Given the description of an element on the screen output the (x, y) to click on. 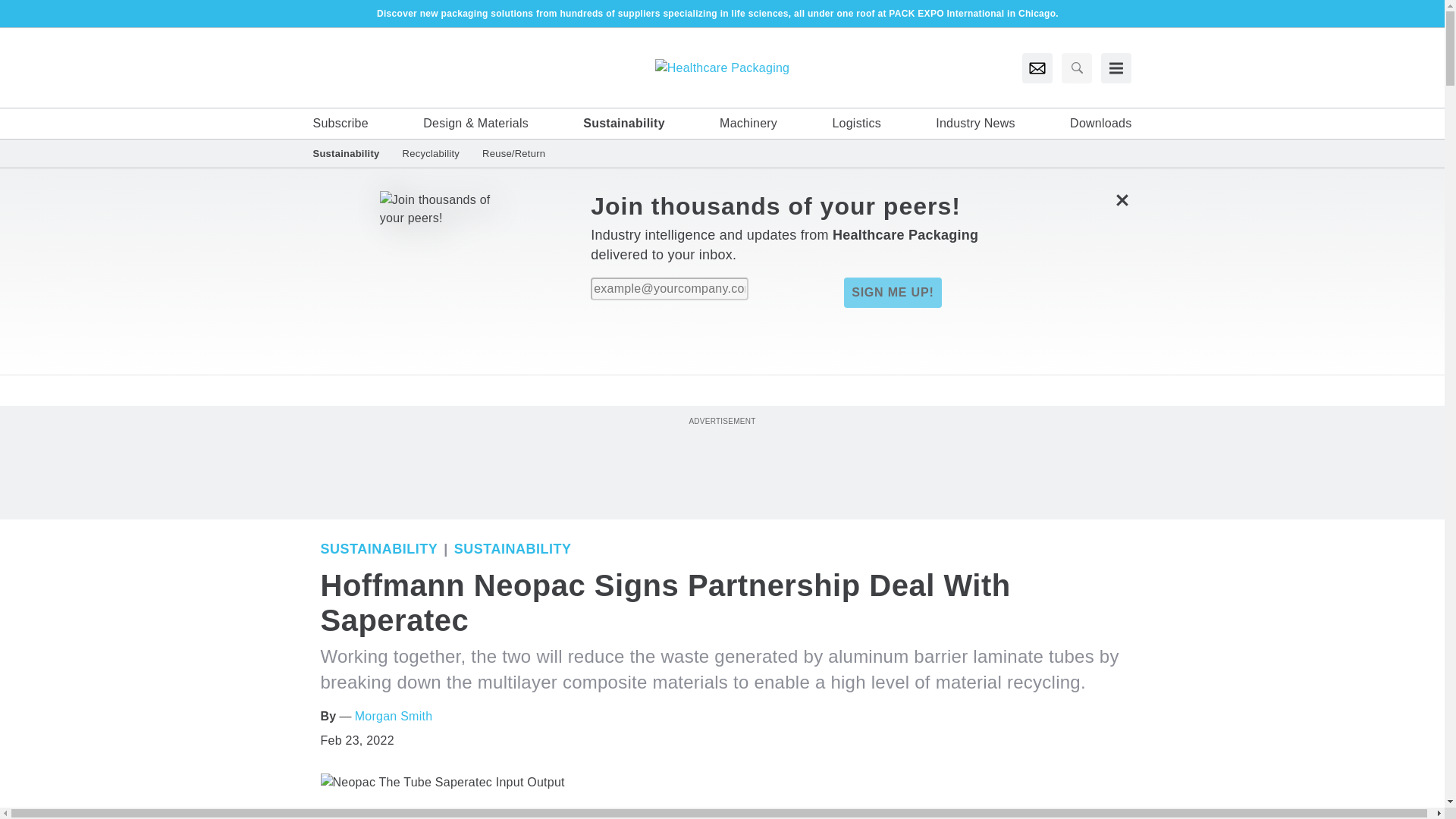
3rd party ad content (721, 462)
Machinery (748, 123)
Sustainability (513, 548)
Sustainability (379, 548)
SIGN ME UP! (892, 292)
Subscribe (340, 123)
Downloads (1100, 123)
Sustainability (351, 153)
Sustainability (624, 123)
